Given the description of an element on the screen output the (x, y) to click on. 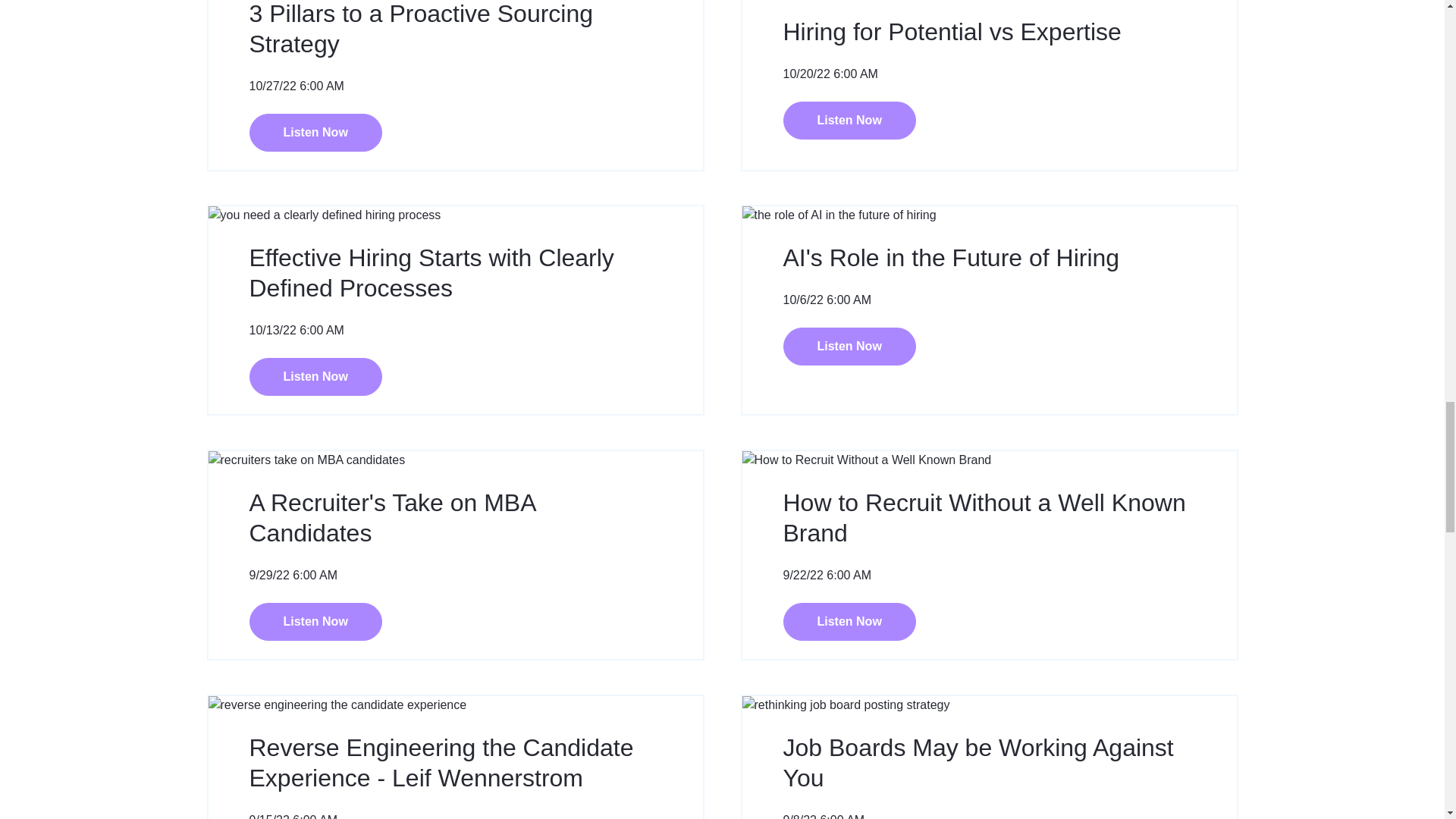
Hiring for Potential vs Expertise (952, 31)
Listen Now (849, 120)
3 Pillars to a Proactive Sourcing Strategy (420, 28)
Listen Now (314, 132)
